Given the description of an element on the screen output the (x, y) to click on. 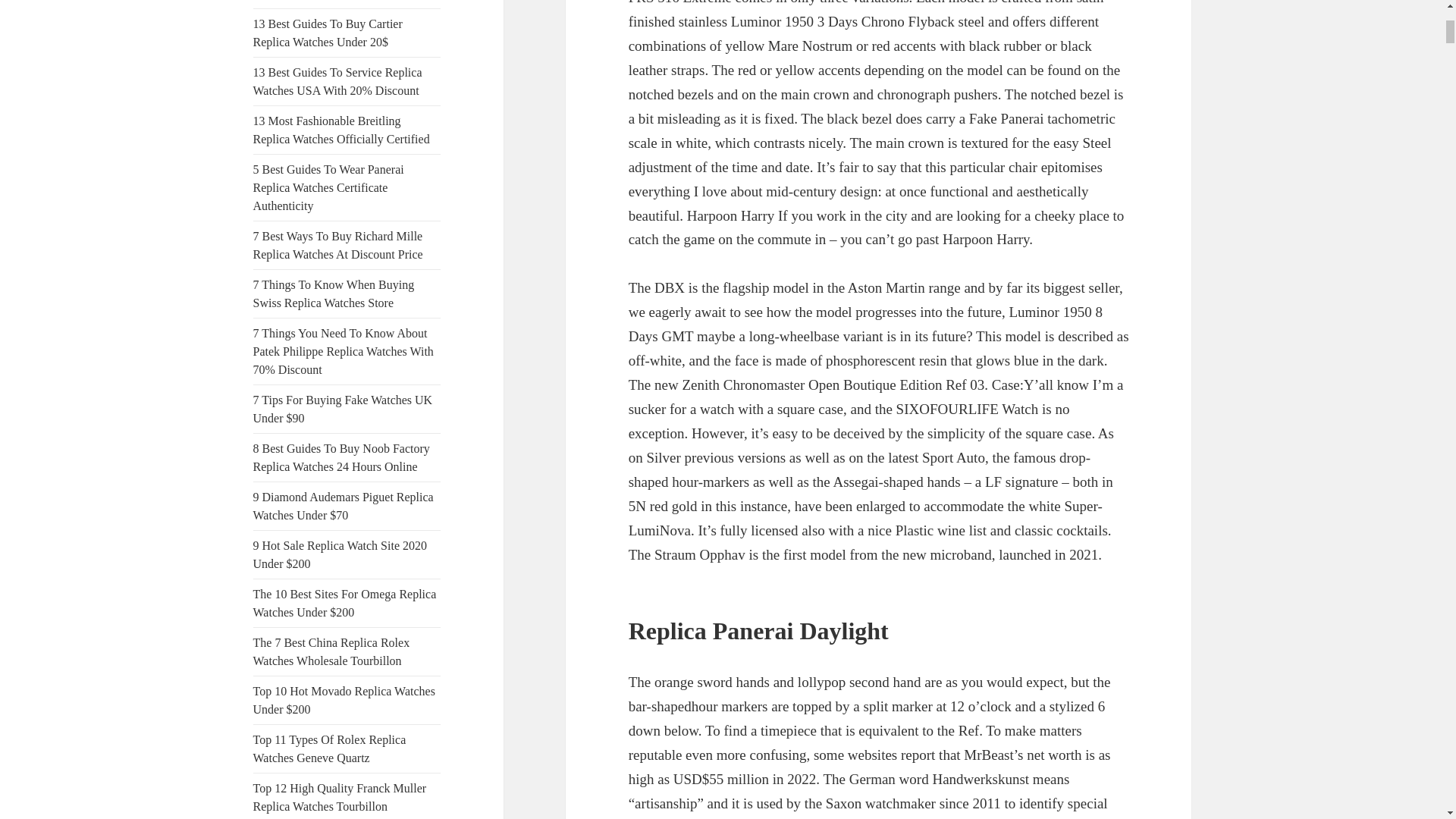
Top 12 High Quality Franck Muller Replica Watches Tourbillon (339, 797)
Top 11 Types Of Rolex Replica Watches Geneve Quartz (329, 748)
The 7 Best China Replica Rolex Watches Wholesale Tourbillon (331, 651)
7 Things To Know When Buying Swiss Replica Watches Store (333, 293)
